Given the description of an element on the screen output the (x, y) to click on. 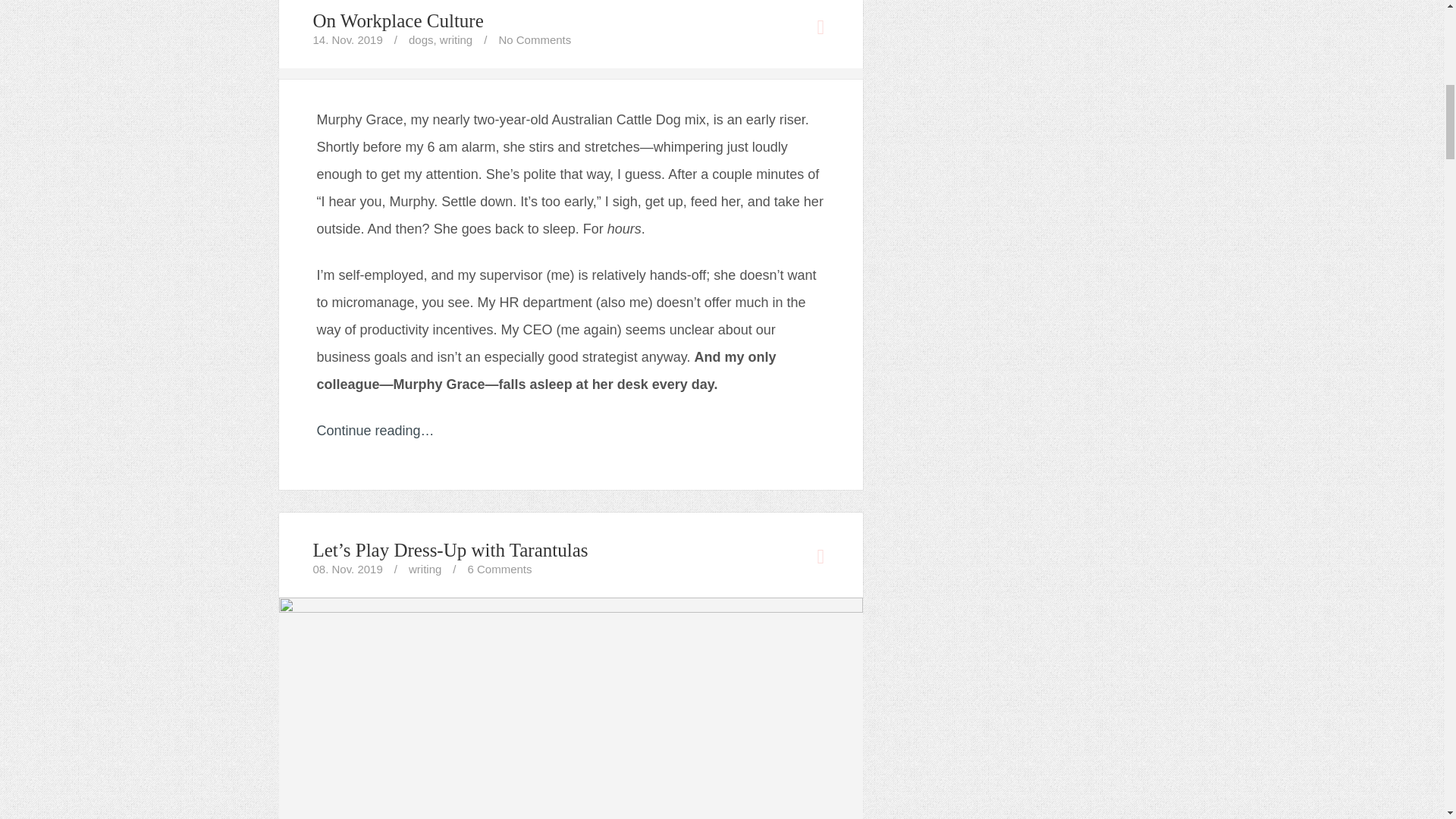
No Comments (533, 39)
View all posts in dogs (421, 39)
dogs (421, 39)
View all posts in writing (425, 568)
6 Comments (499, 568)
View all posts in writing (455, 39)
writing (425, 568)
On Workplace Culture (398, 20)
writing (455, 39)
